Given the description of an element on the screen output the (x, y) to click on. 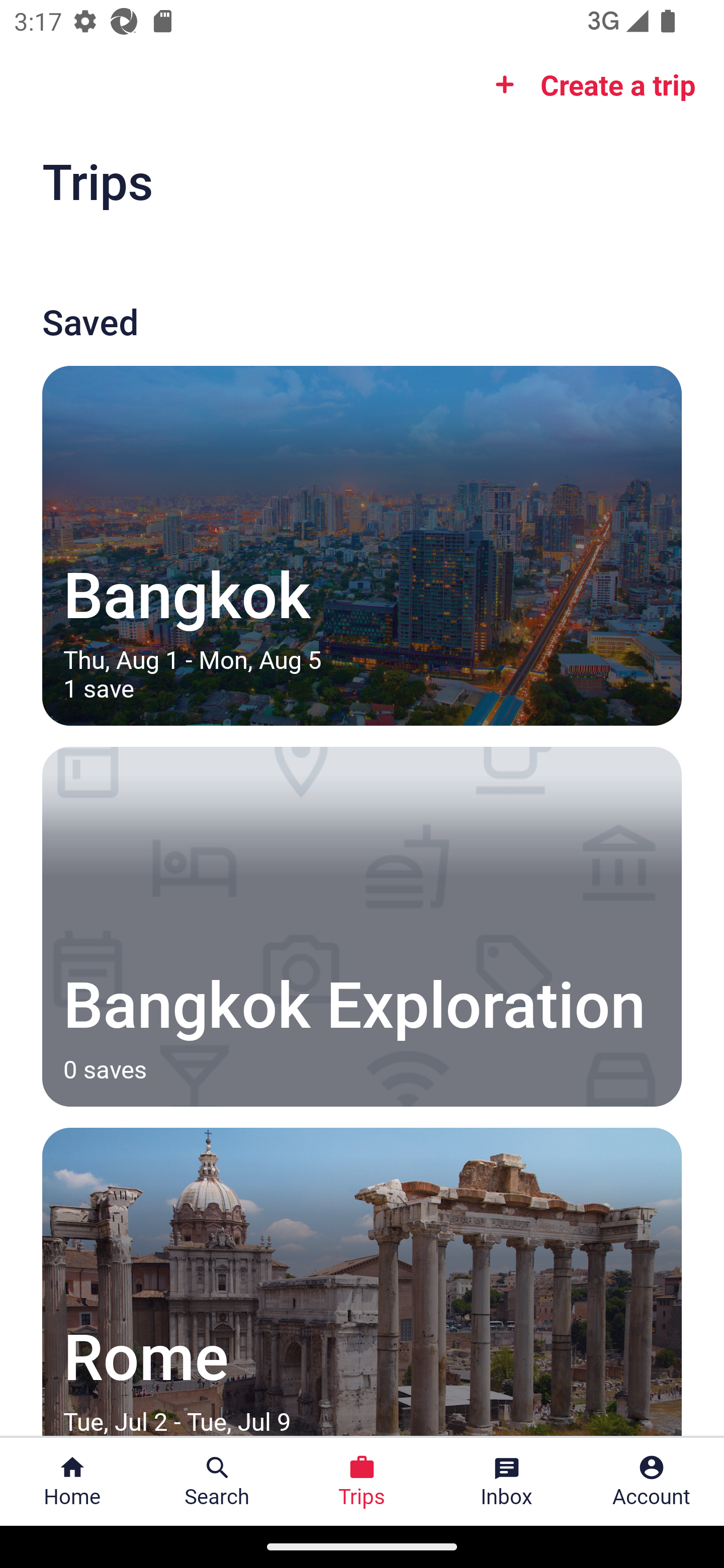
Create a trip Create a trip Button (589, 84)
Home Home Button (72, 1481)
Search Search Button (216, 1481)
Inbox Inbox Button (506, 1481)
Account Profile. Button (651, 1481)
